Given the description of an element on the screen output the (x, y) to click on. 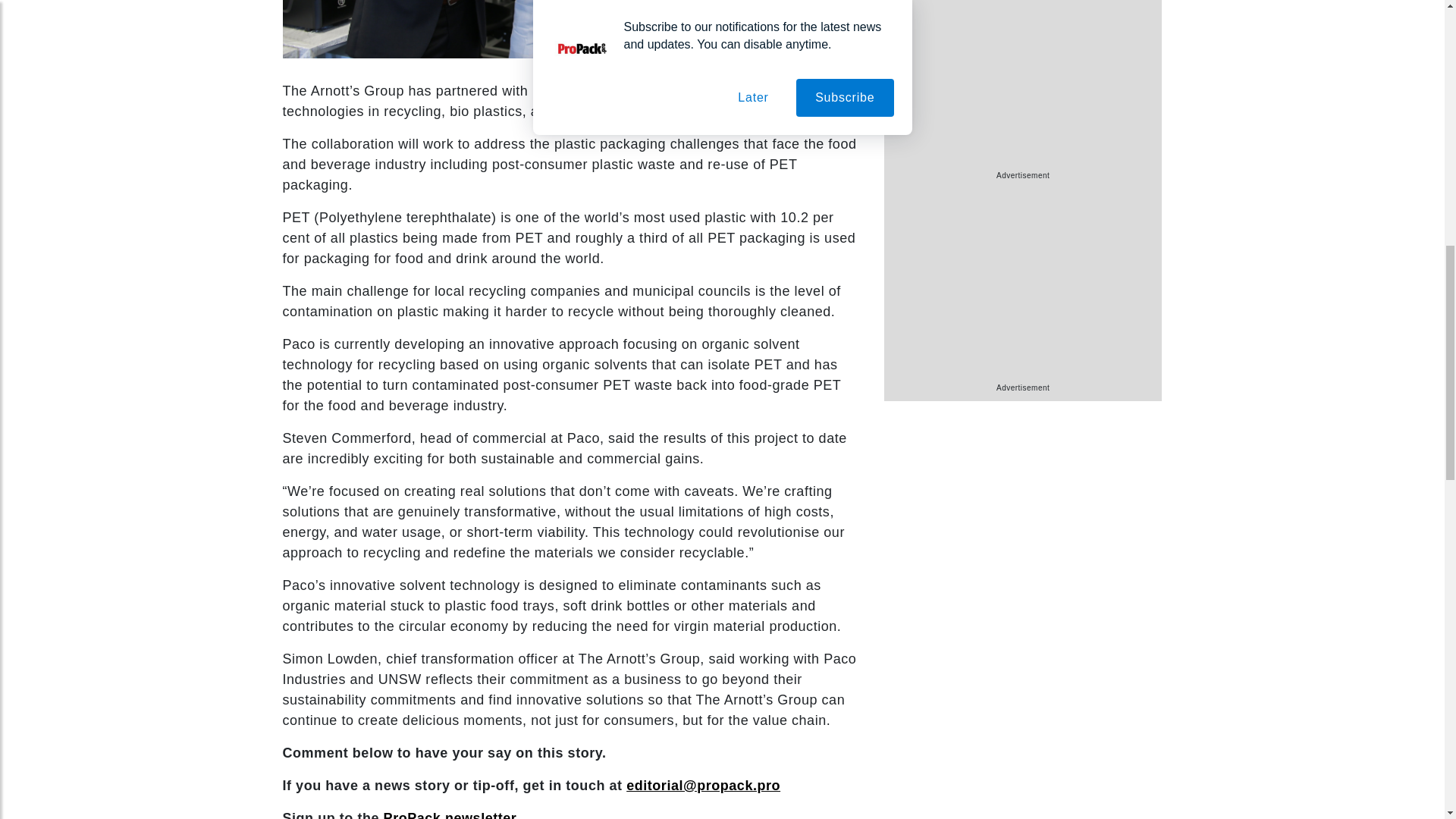
3rd party ad content (1022, 84)
3rd party ad content (1022, 287)
ProPack newsletter (450, 814)
